Given the description of an element on the screen output the (x, y) to click on. 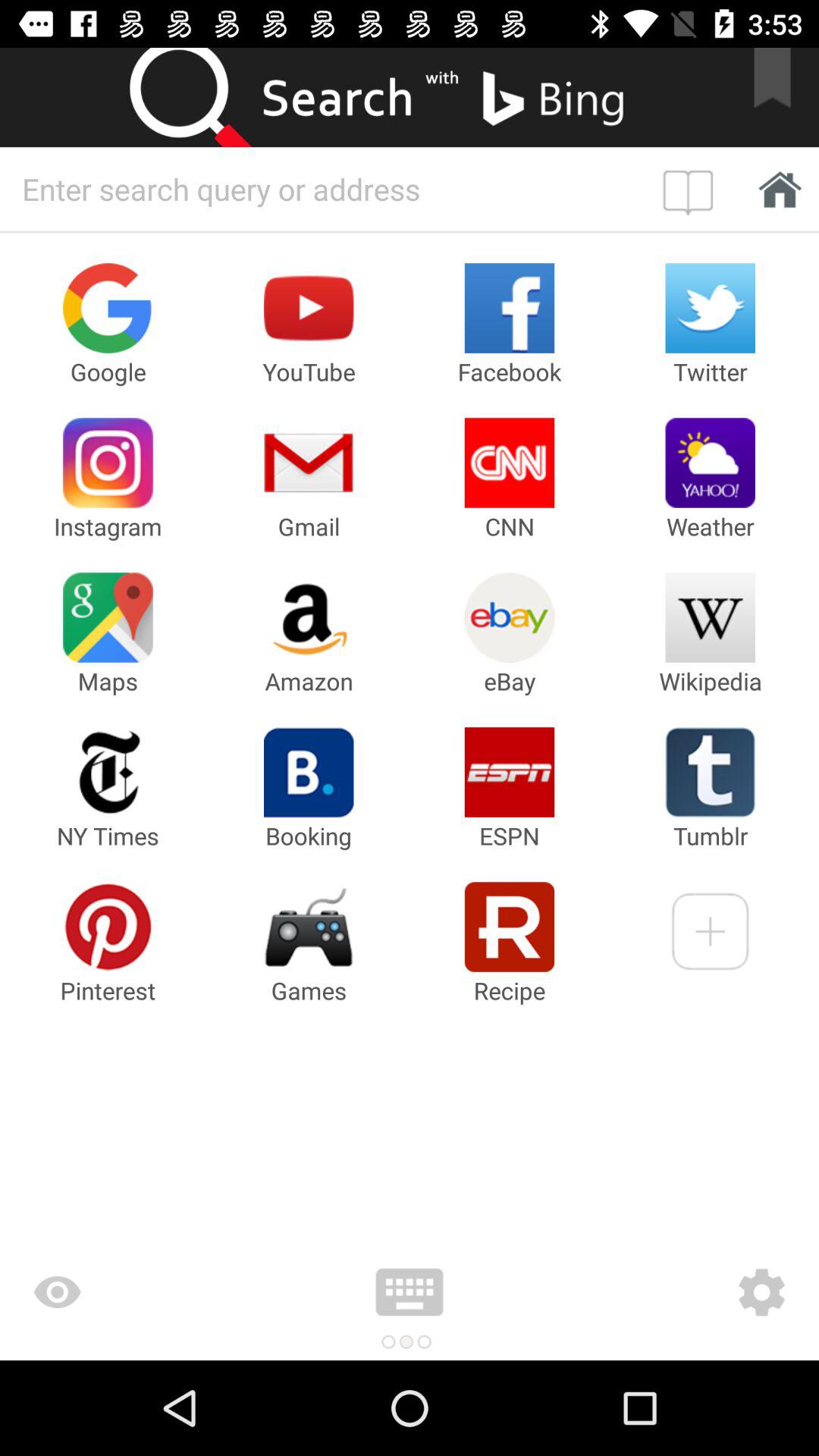
go to home page (775, 188)
